Given the description of an element on the screen output the (x, y) to click on. 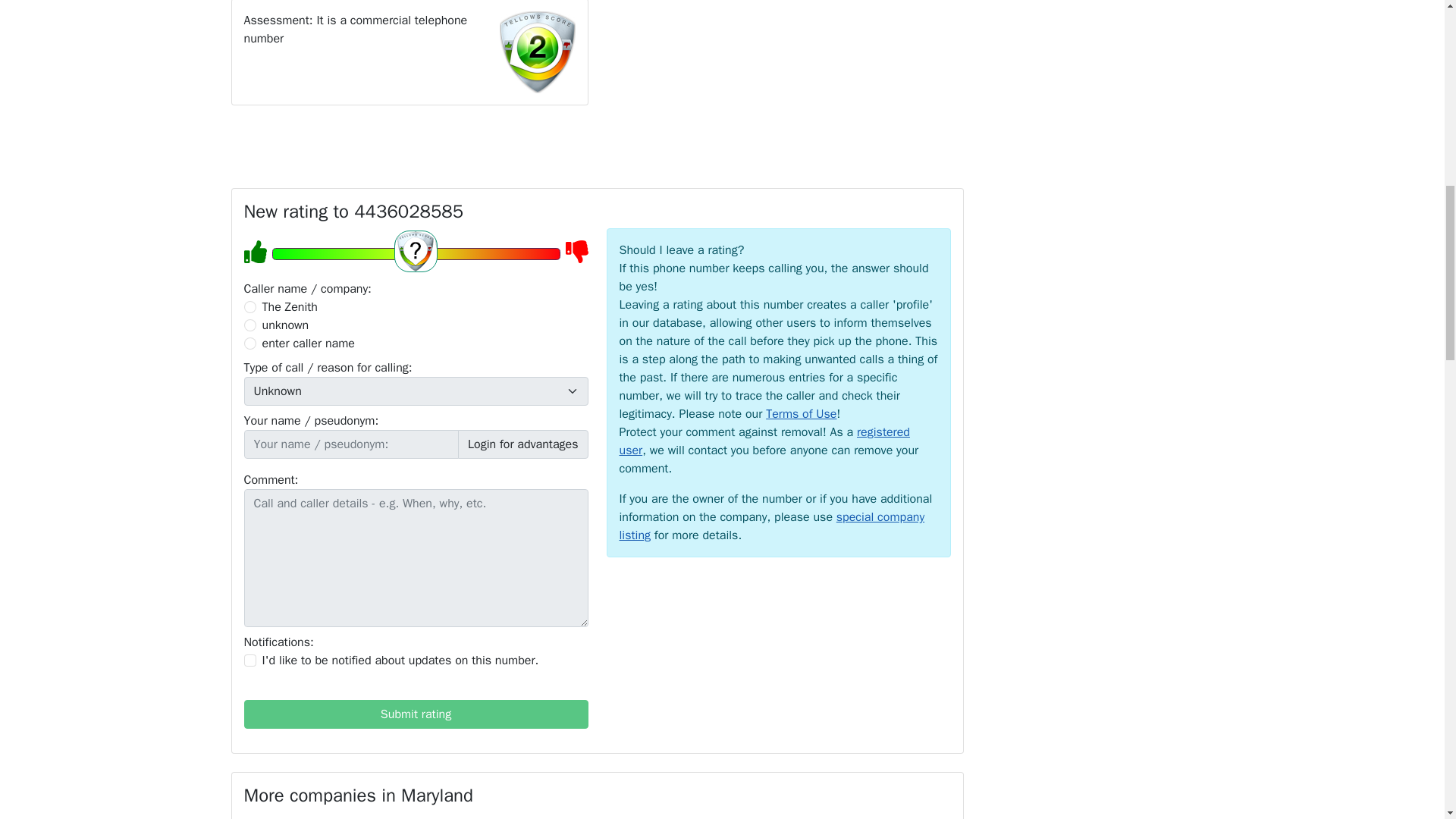
Submit rating (416, 714)
1 (250, 660)
3 (250, 343)
2 (250, 325)
registered user (763, 441)
Submit rating (416, 714)
5 (414, 253)
Terms of Use (800, 413)
Login for advantages (523, 443)
